Given the description of an element on the screen output the (x, y) to click on. 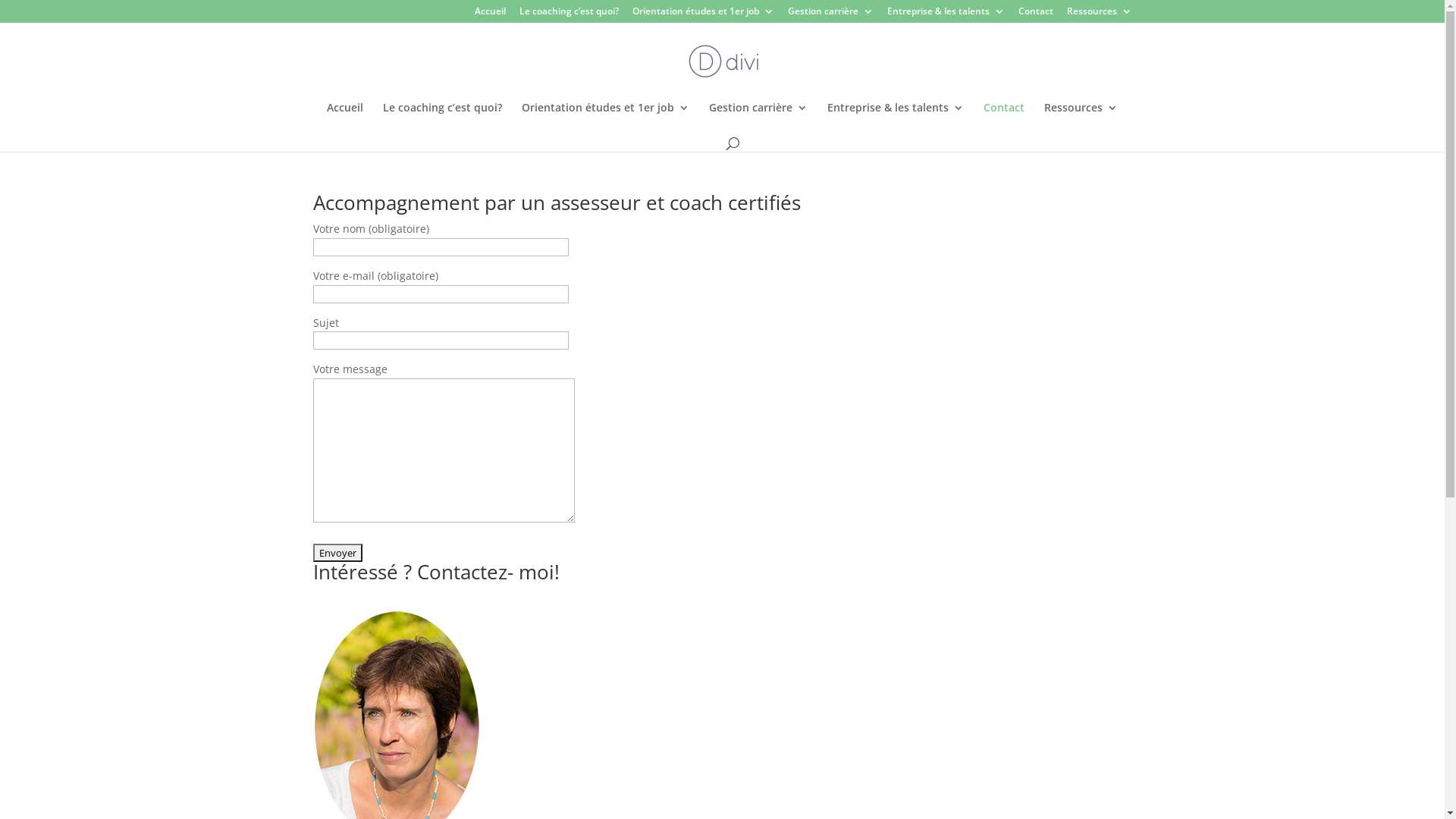
Envoyer Element type: text (336, 552)
Contact Element type: text (1034, 14)
Entreprise & les talents Element type: text (895, 118)
Contact Element type: text (1003, 118)
Ressources Element type: text (1080, 118)
Ressources Element type: text (1098, 14)
Entreprise & les talents Element type: text (945, 14)
Accueil Element type: text (489, 14)
Accueil Element type: text (344, 118)
